Given the description of an element on the screen output the (x, y) to click on. 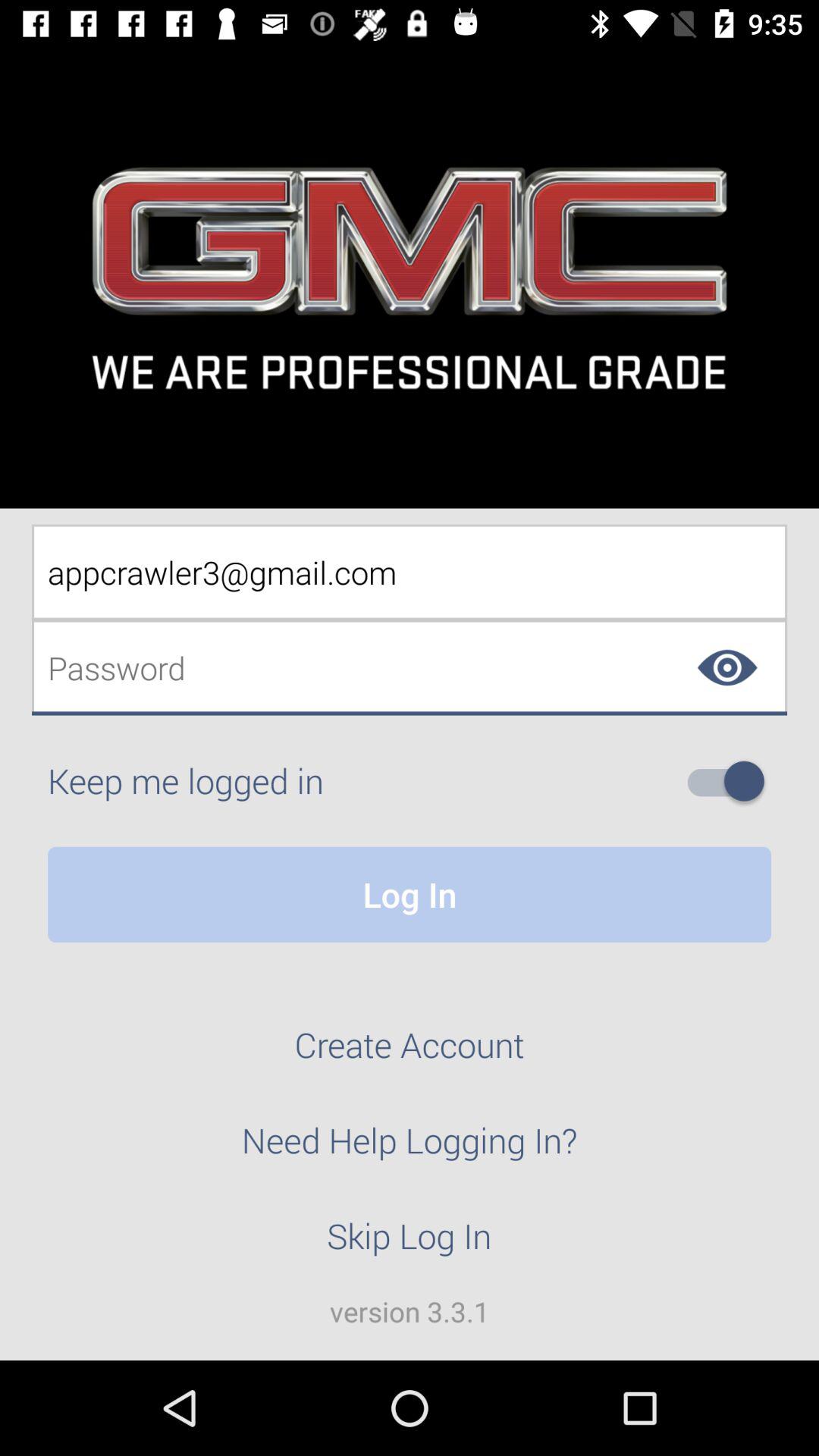
password textbox (409, 667)
